Given the description of an element on the screen output the (x, y) to click on. 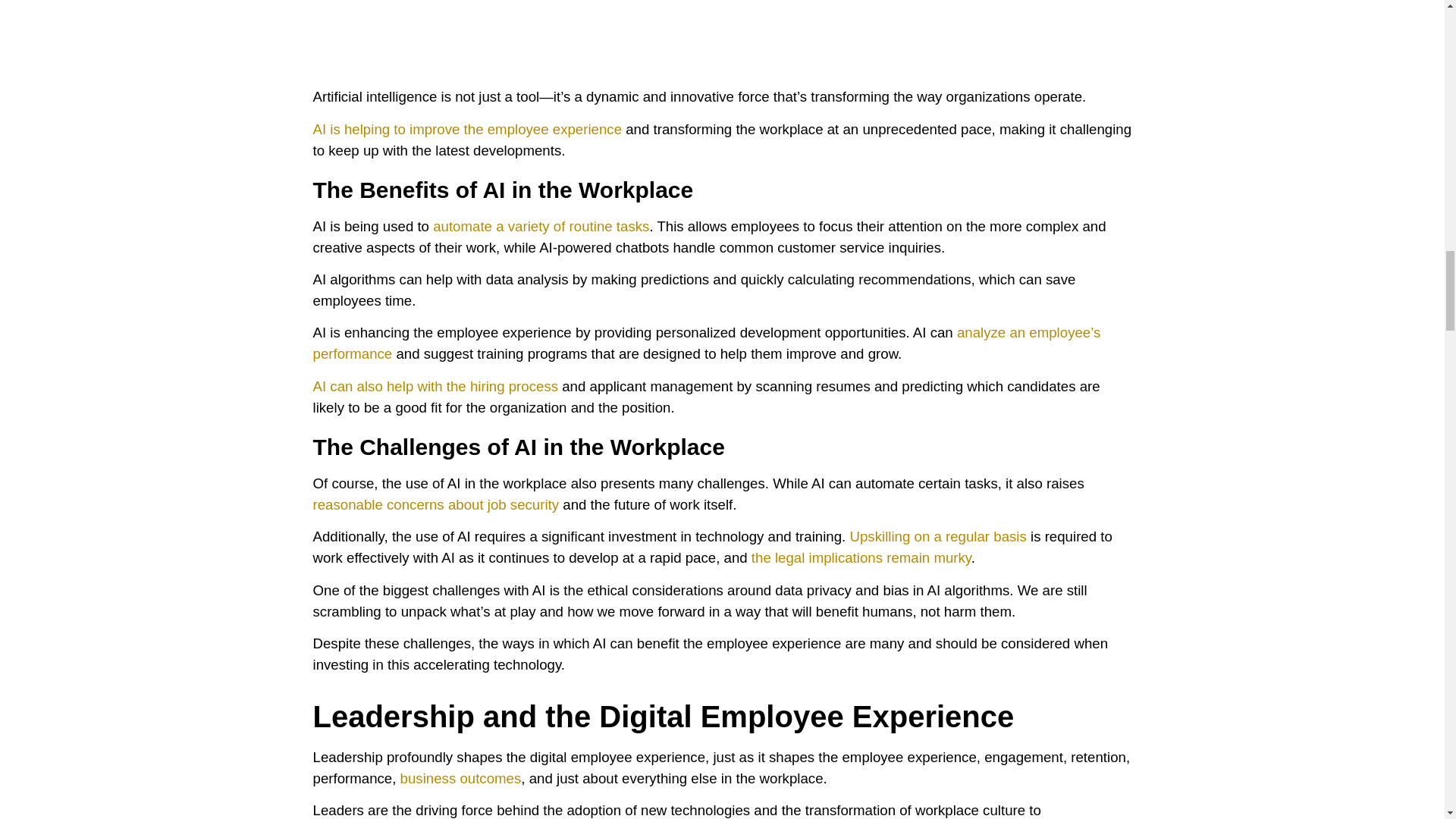
AI can also help with the hiring process (435, 385)
automate a variety of routine tasks (540, 226)
business outcomes (460, 778)
AI is helping to improve the employee experience (467, 129)
Upskilling on a regular basis (937, 536)
reasonable concerns about job security (436, 504)
the legal implications remain murky (861, 557)
